Given the description of an element on the screen output the (x, y) to click on. 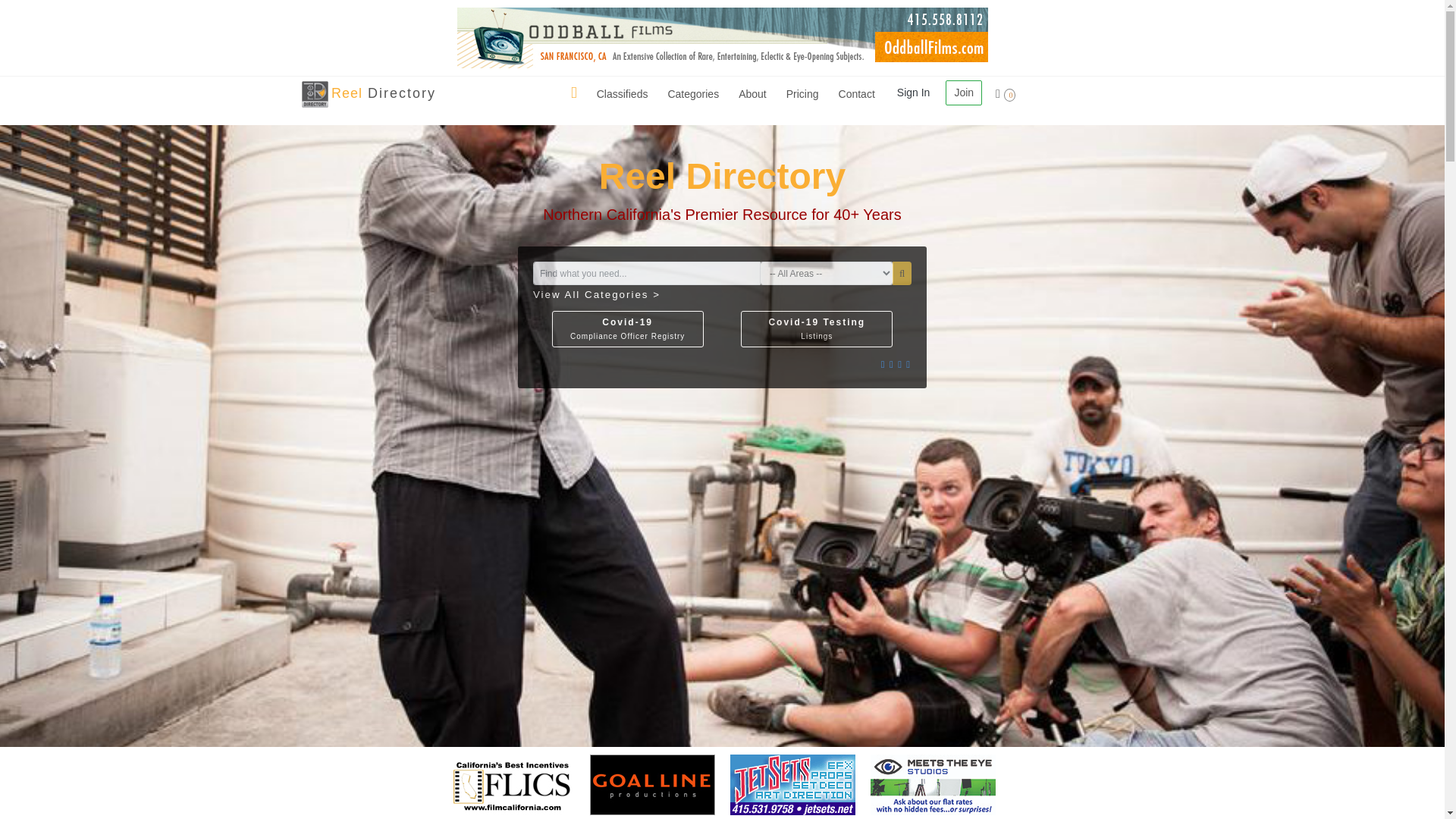
Classifieds (622, 93)
Join (962, 92)
0 (1006, 93)
Categories (627, 329)
Reel Directory Logo (693, 93)
Classifieds (315, 94)
Categories (622, 93)
Contact (693, 93)
About (856, 93)
Reel Directory (752, 93)
Pricing (383, 92)
Pricing (802, 93)
About (802, 93)
Contact (752, 93)
